Given the description of an element on the screen output the (x, y) to click on. 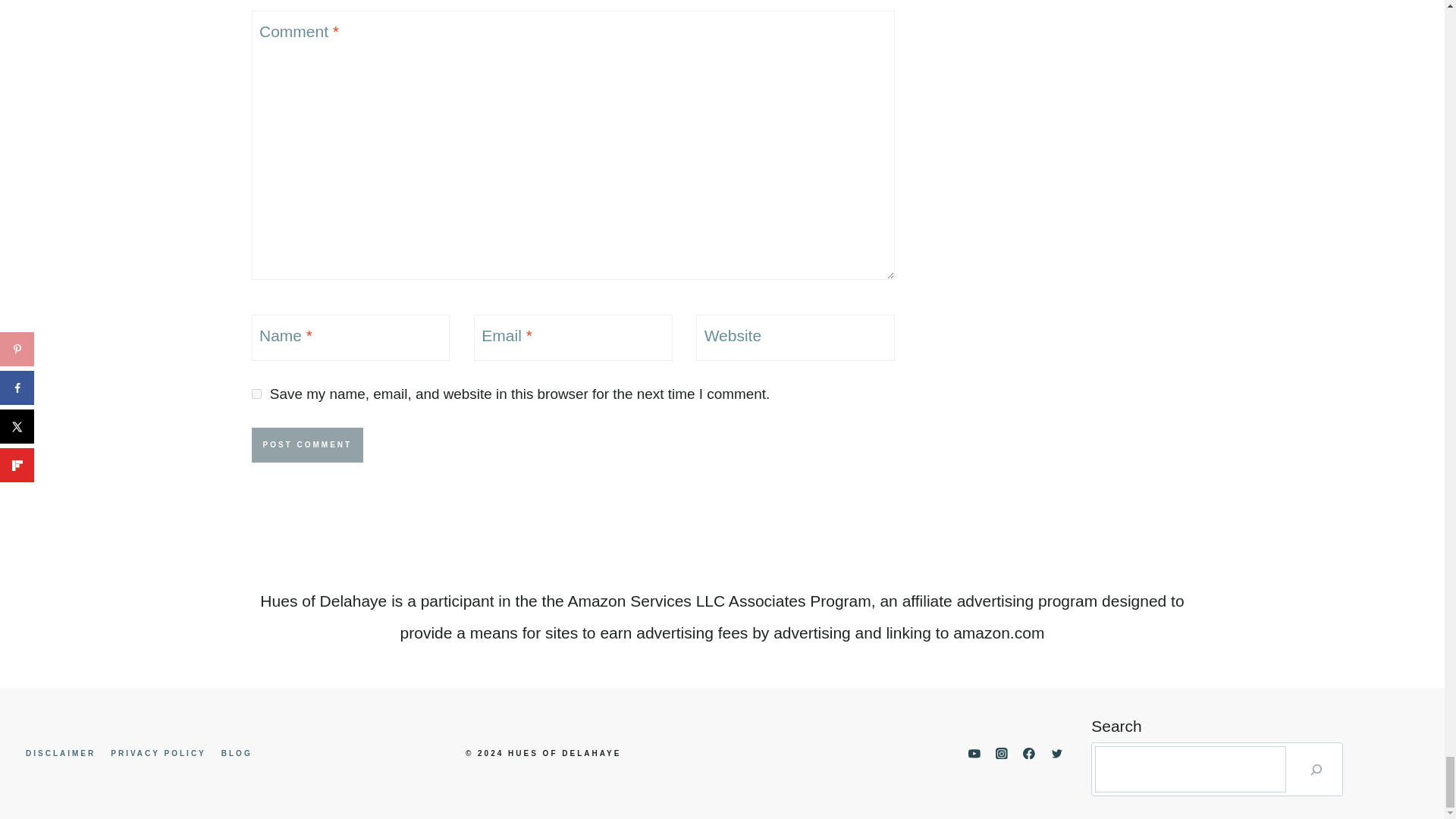
Post Comment (307, 444)
yes (256, 393)
Post Comment (307, 444)
